Given the description of an element on the screen output the (x, y) to click on. 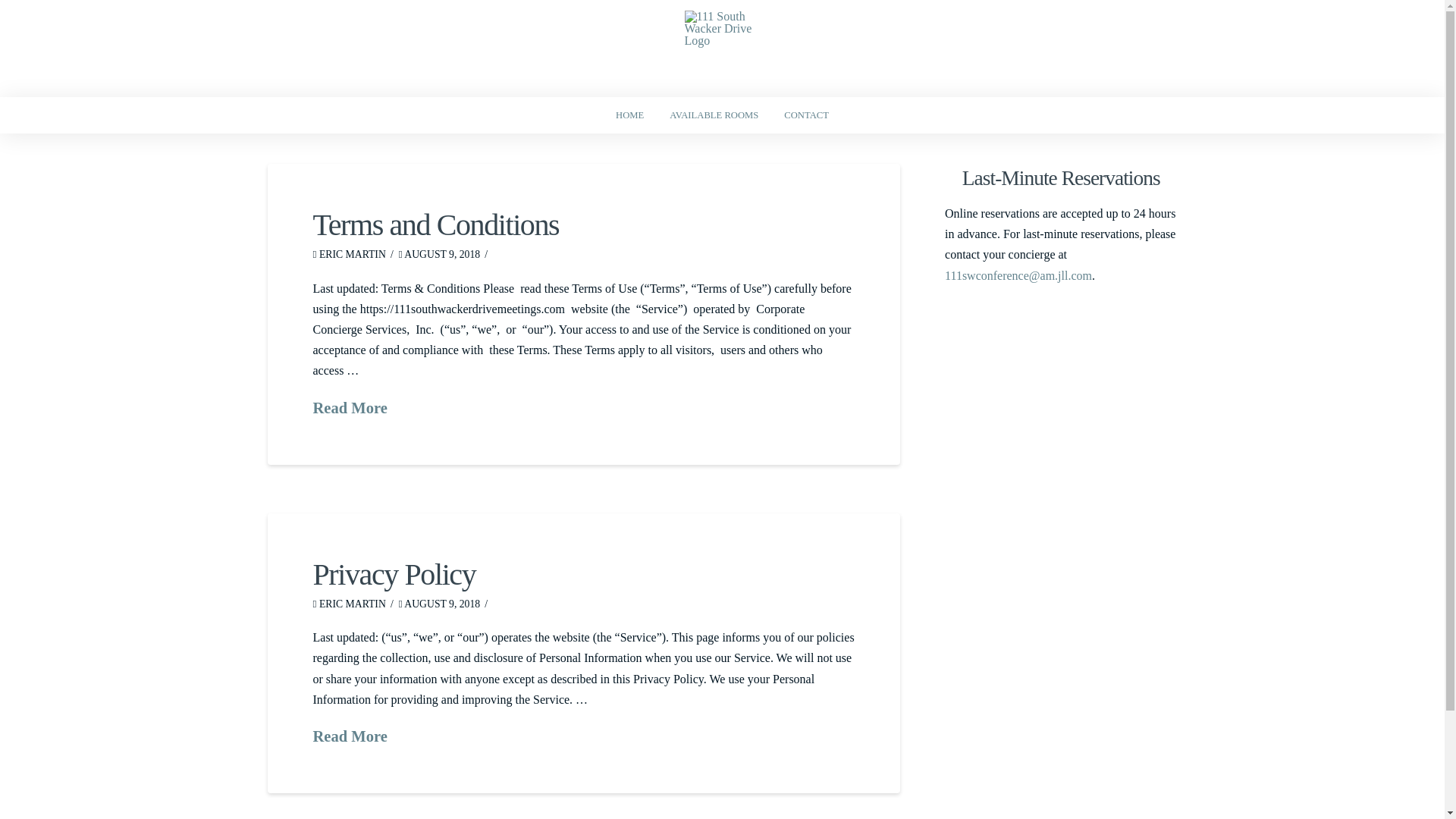
Privacy Policy Element type: text (393, 574)
CONTACT Element type: text (806, 115)
HOME Element type: text (629, 115)
111swconference@am.jll.com Element type: text (1018, 275)
Read More Element type: text (349, 736)
AVAILABLE ROOMS Element type: text (713, 115)
Terms and Conditions Element type: text (435, 224)
Read More Element type: text (349, 408)
